Given the description of an element on the screen output the (x, y) to click on. 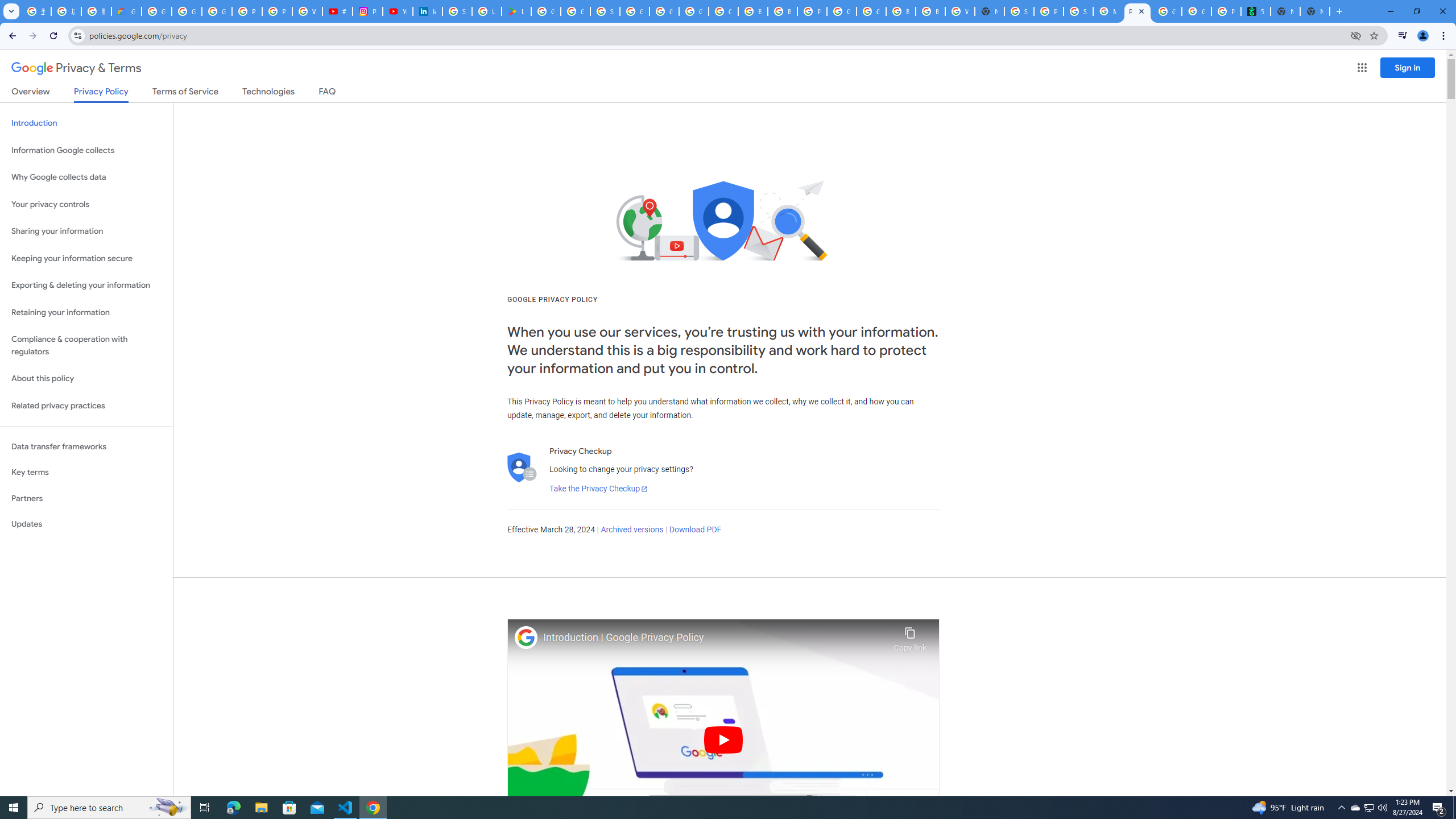
Photo image of Google (526, 636)
YouTube Culture & Trends - On The Rise: Handcam Videos (397, 11)
